Given the description of an element on the screen output the (x, y) to click on. 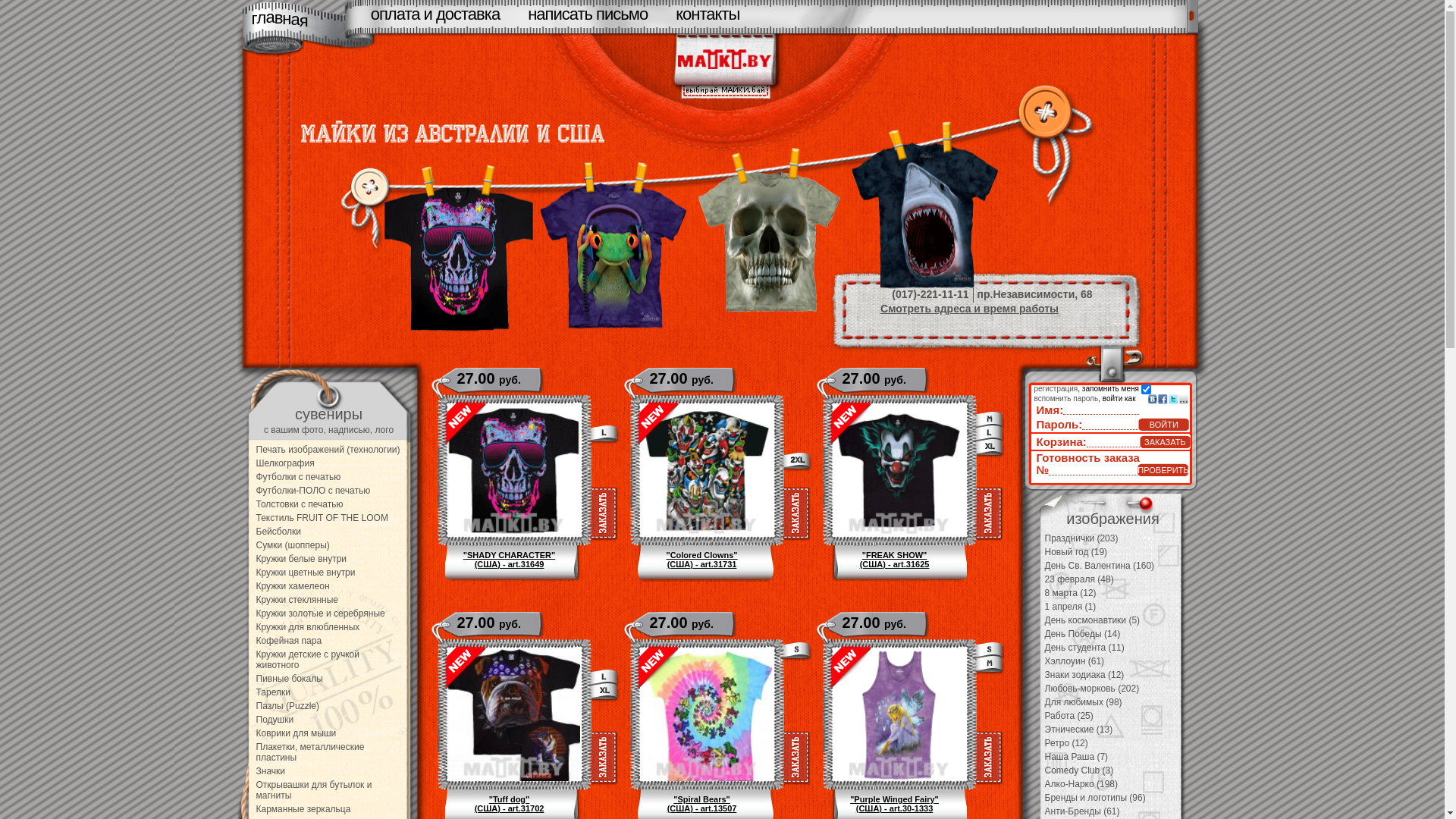
Comedy Club (3) Element type: text (1078, 770)
